Given the description of an element on the screen output the (x, y) to click on. 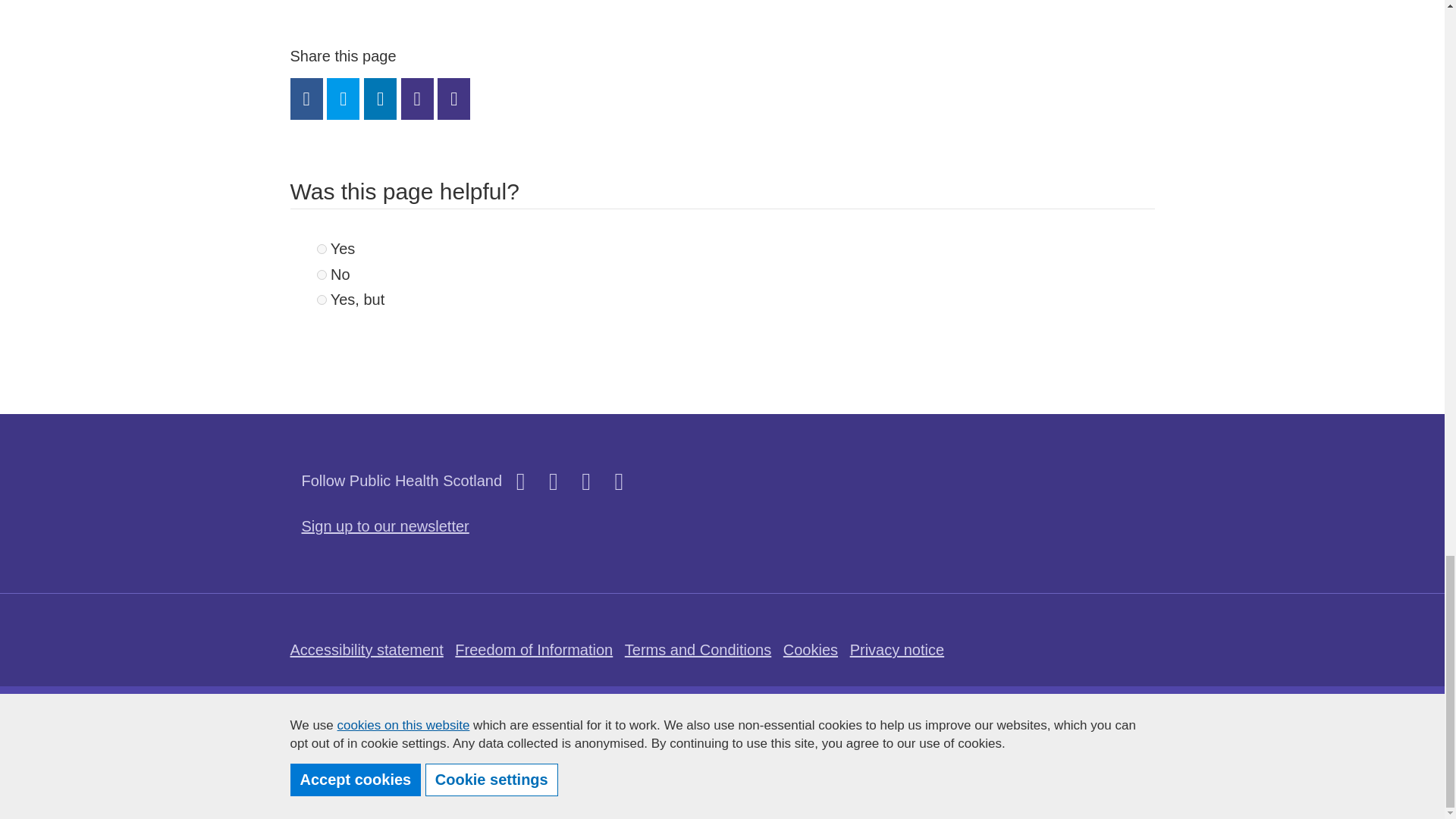
Cookies (810, 649)
No (321, 275)
Yes (321, 248)
Freedom of Information (533, 649)
Accessibility statement (365, 649)
Yes, but (321, 299)
Sign up to our newsletter (384, 525)
Terms and Conditions (697, 649)
